Given the description of an element on the screen output the (x, y) to click on. 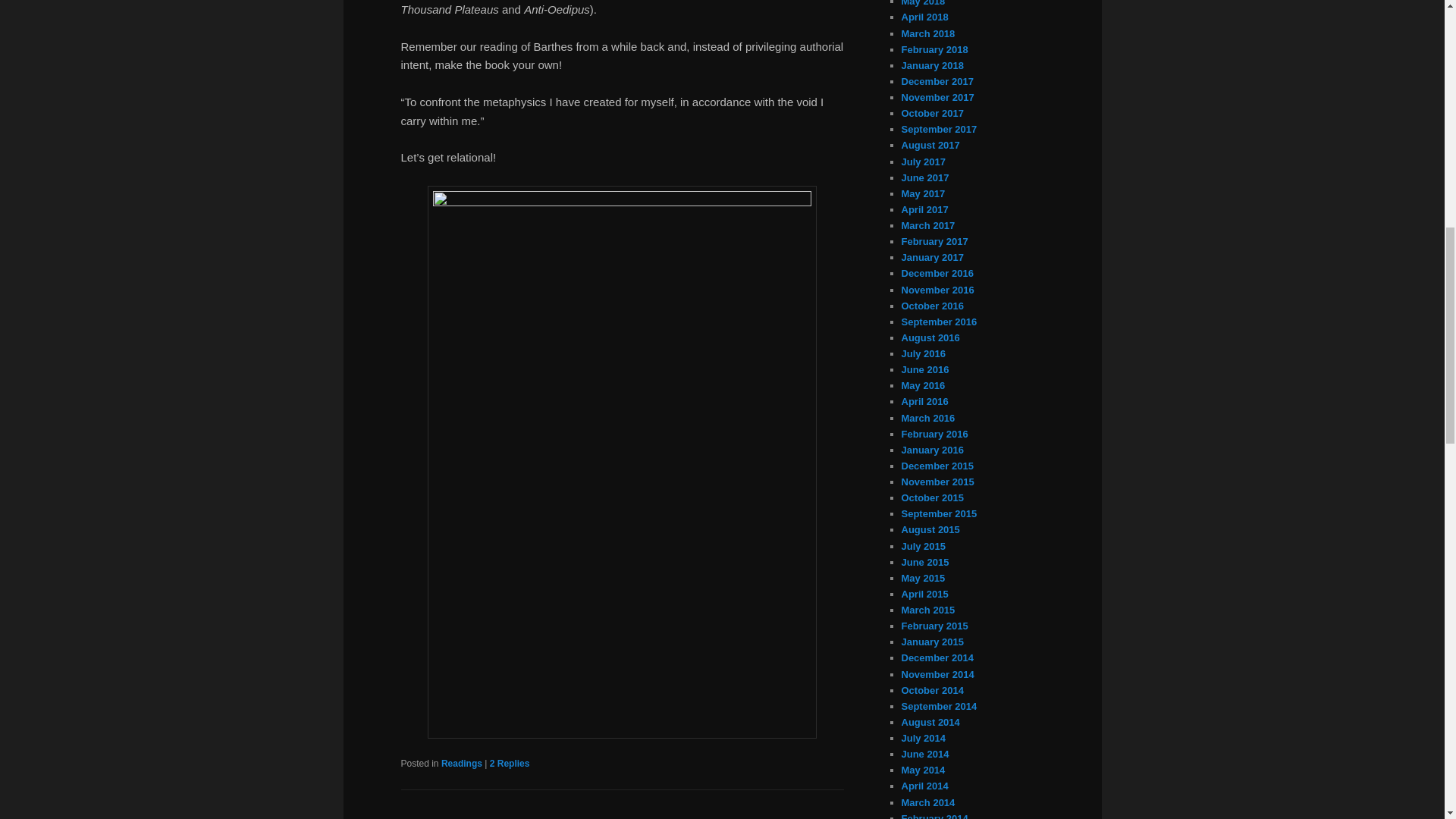
Readings (461, 763)
2 Replies (509, 763)
